Given the description of an element on the screen output the (x, y) to click on. 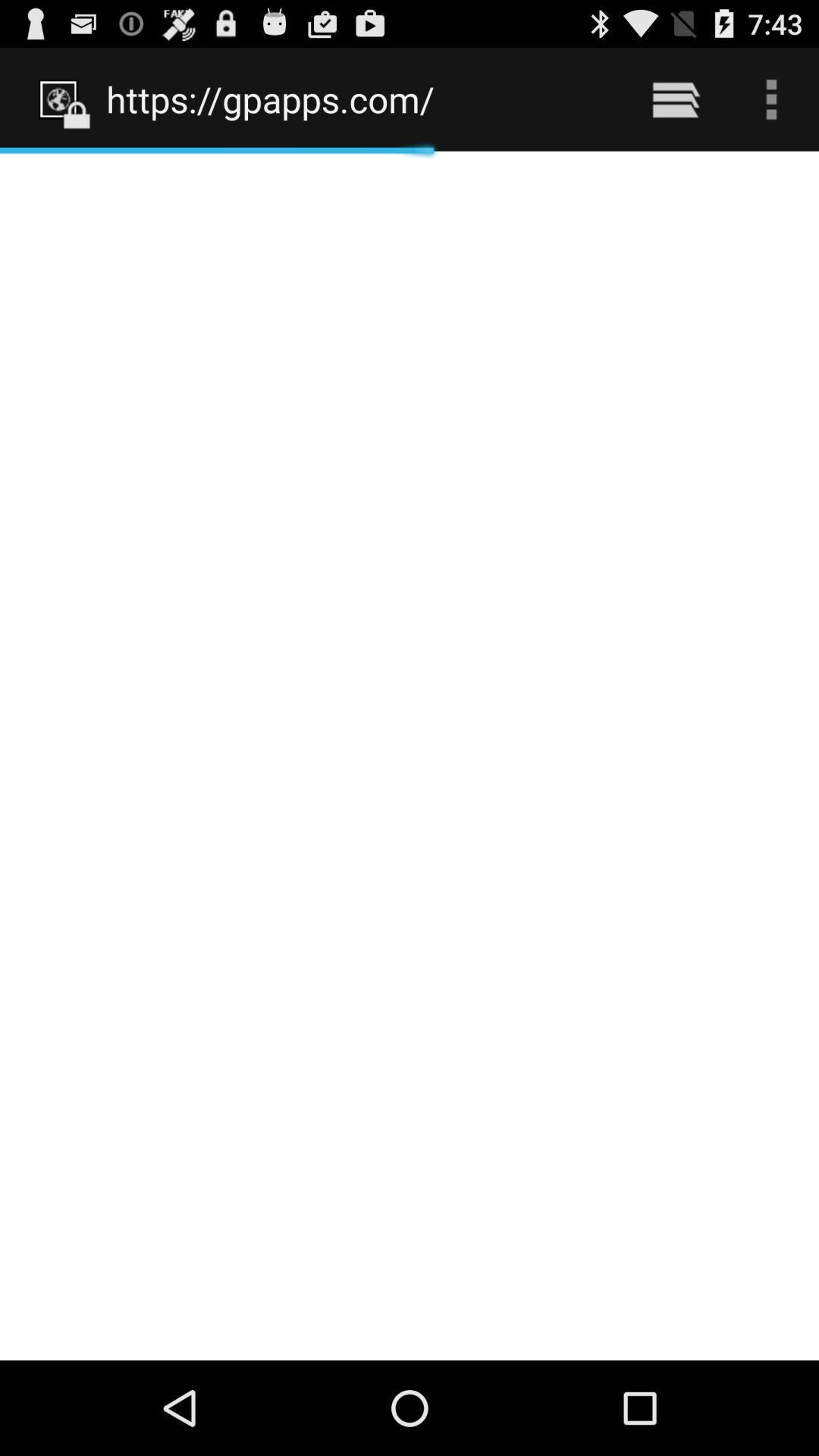
turn off the item below https://gpapps.com/ (409, 755)
